Given the description of an element on the screen output the (x, y) to click on. 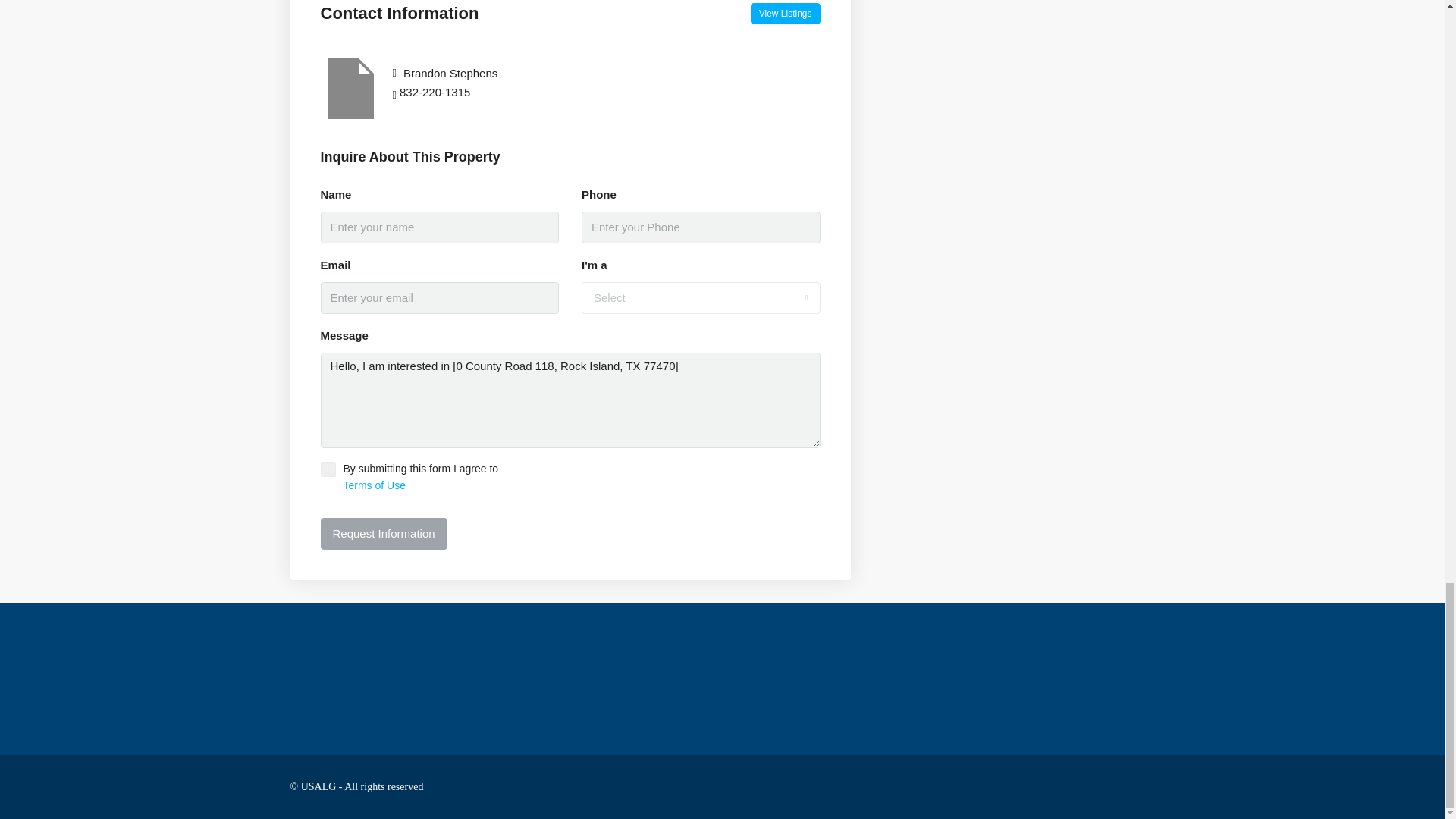
Select (700, 297)
